Given the description of an element on the screen output the (x, y) to click on. 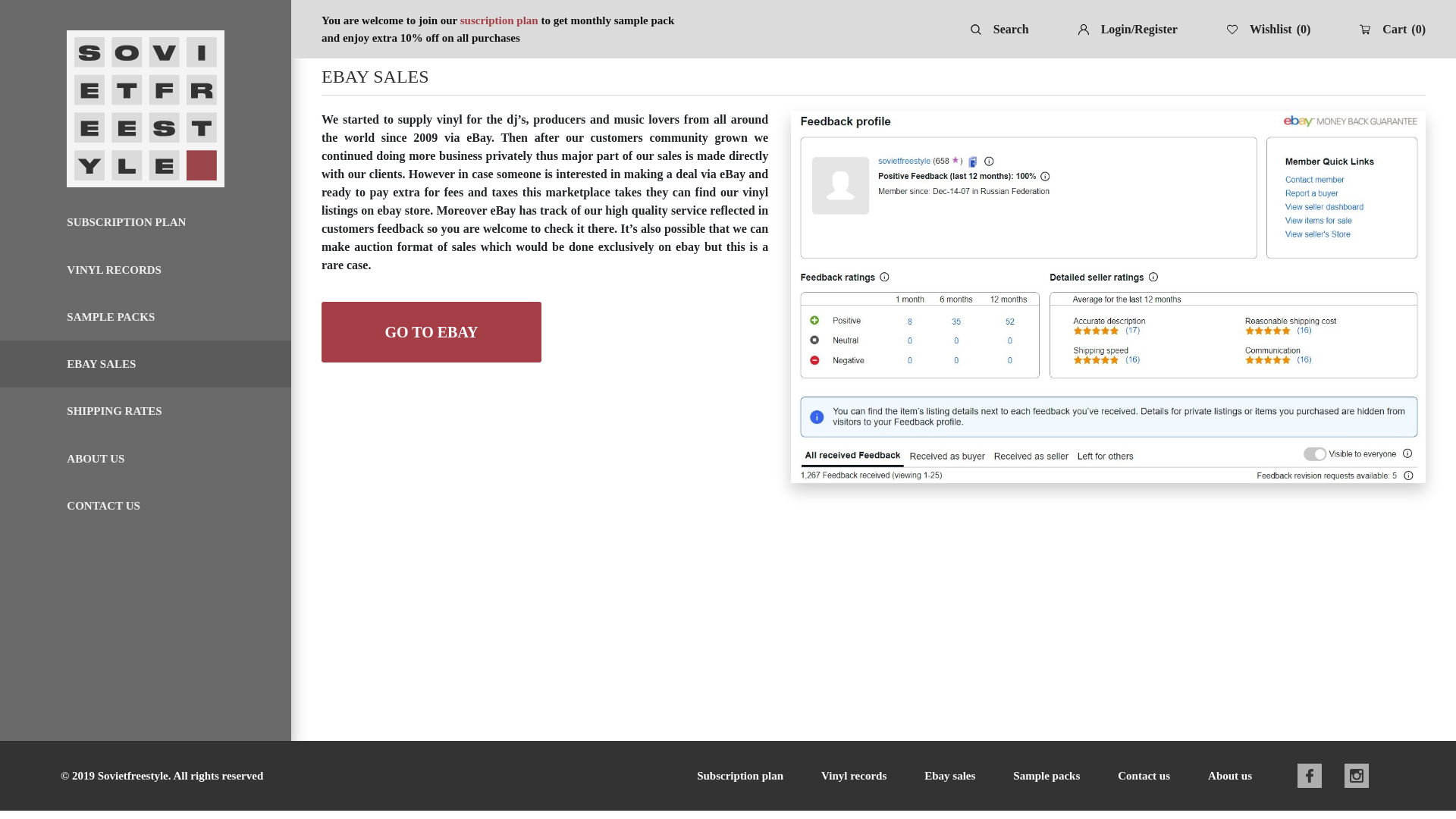
SUBSCRIPTION PLAN (126, 222)
Subscription plan (740, 775)
EBAY SALES (100, 364)
suscription plan (499, 20)
CONTACT US (102, 506)
Ebay sales (949, 775)
GO TO EBAY (431, 332)
Search (1000, 28)
SAMPLE PACKS (110, 316)
SHIPPING RATES (113, 411)
